Given the description of an element on the screen output the (x, y) to click on. 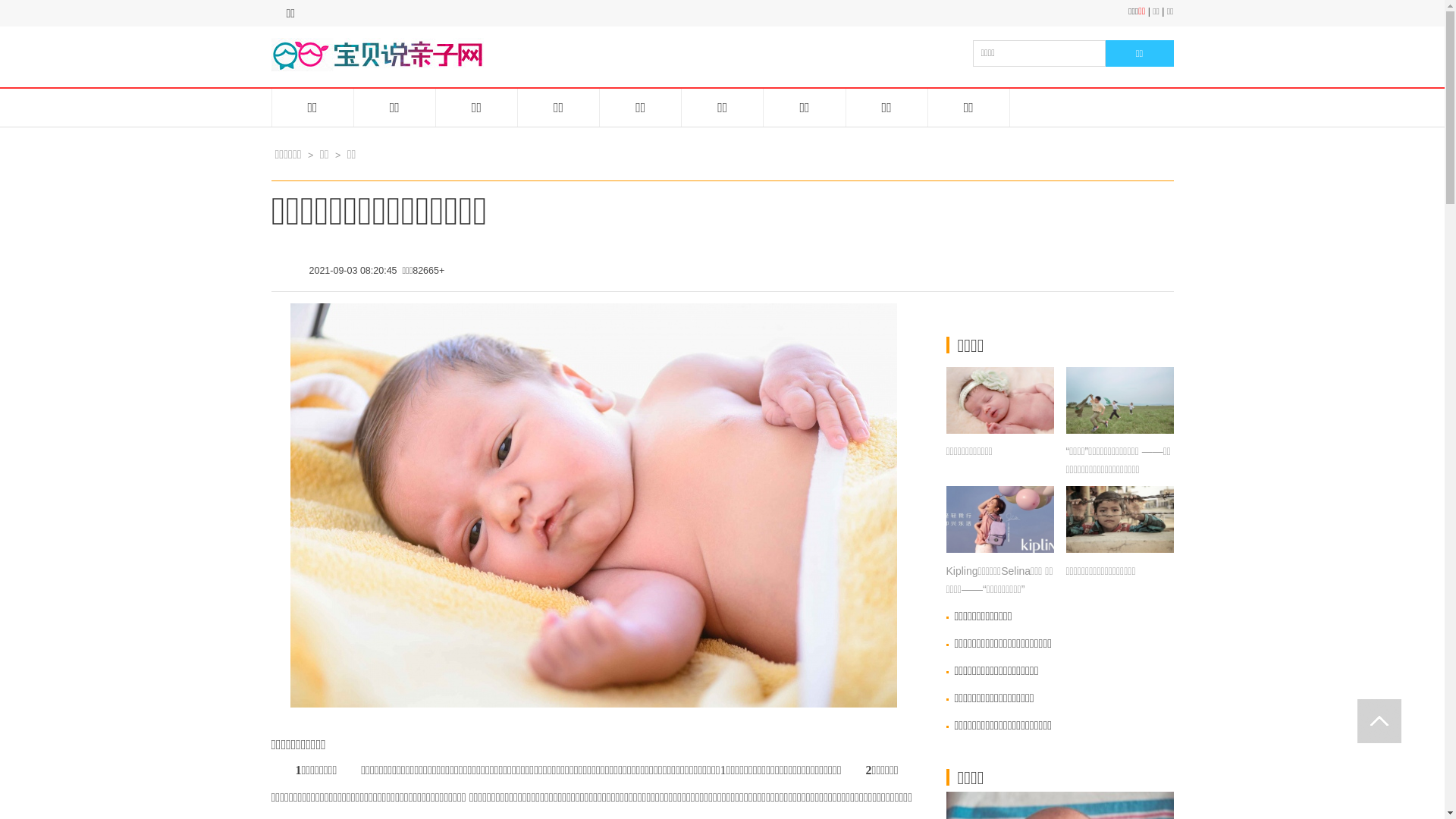
  Element type: text (1379, 721)
